Given the description of an element on the screen output the (x, y) to click on. 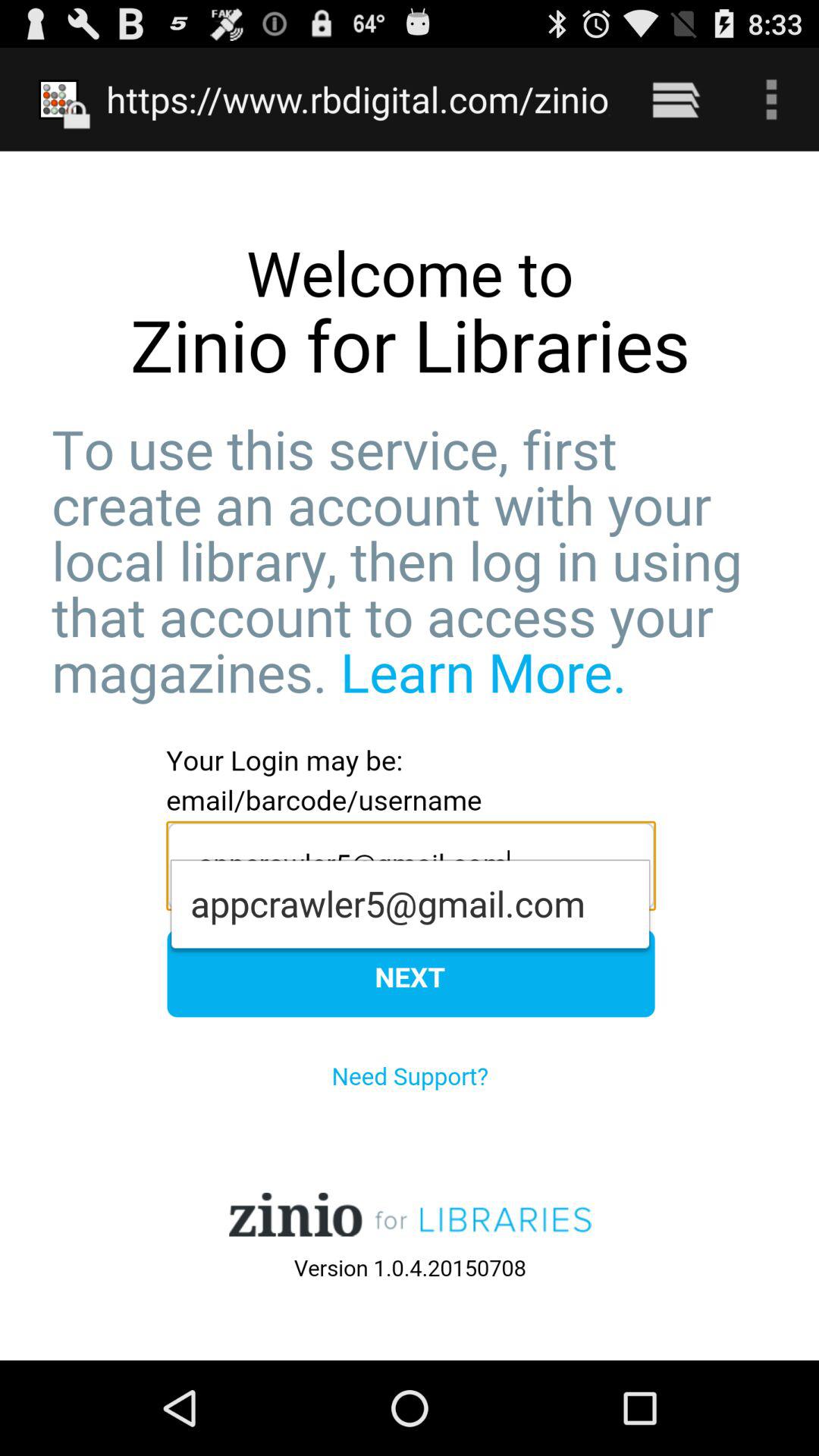
turn off https www rbdigital item (357, 99)
